Given the description of an element on the screen output the (x, y) to click on. 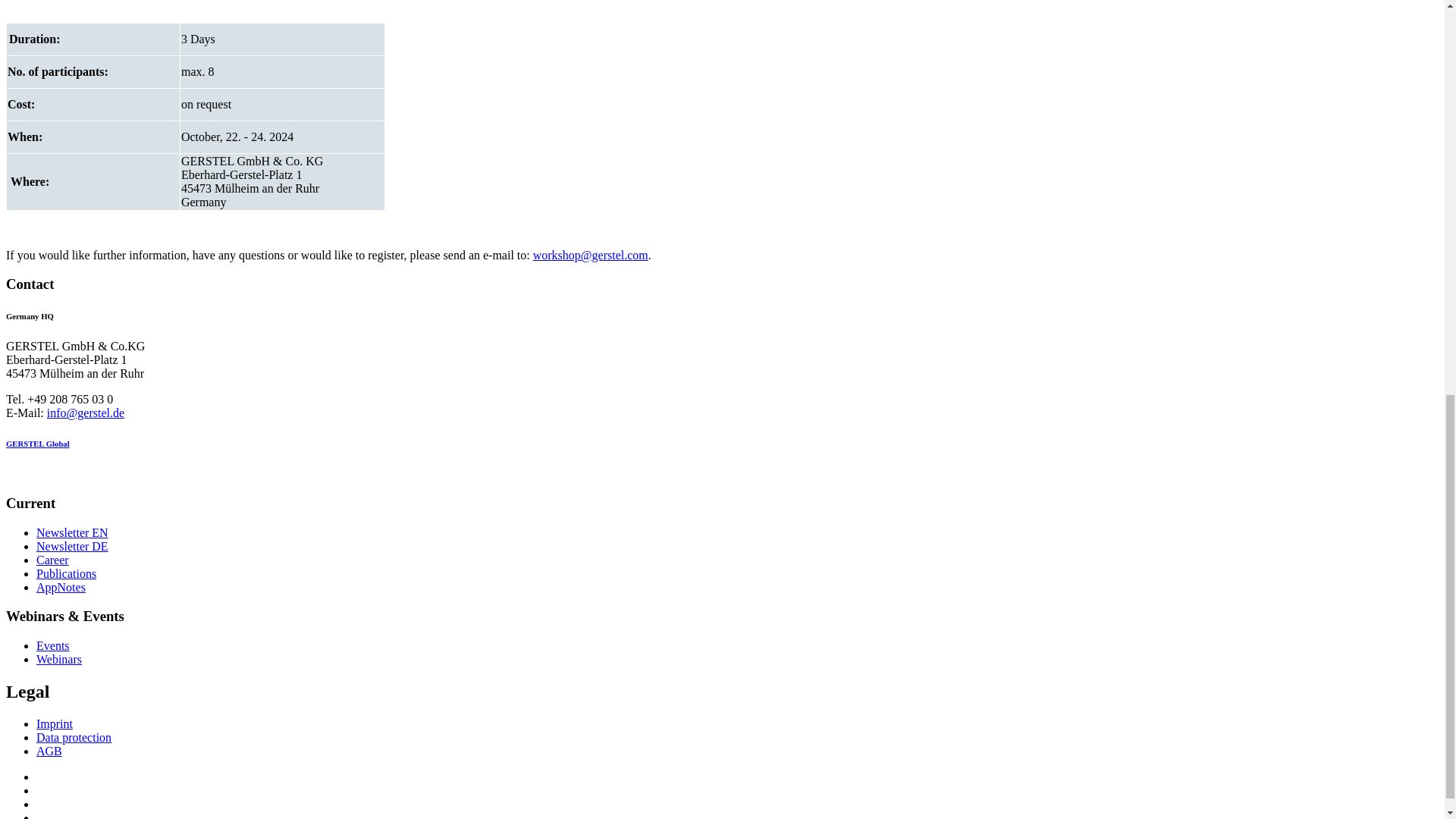
Events (52, 645)
AppNotes (60, 586)
AGB (49, 750)
Newsletter EN (71, 532)
Newsletter DE (71, 545)
Newsletter DE (71, 545)
Imprint (54, 723)
Data protection (74, 737)
Publications (66, 573)
Newsletter EN (71, 532)
